Given the description of an element on the screen output the (x, y) to click on. 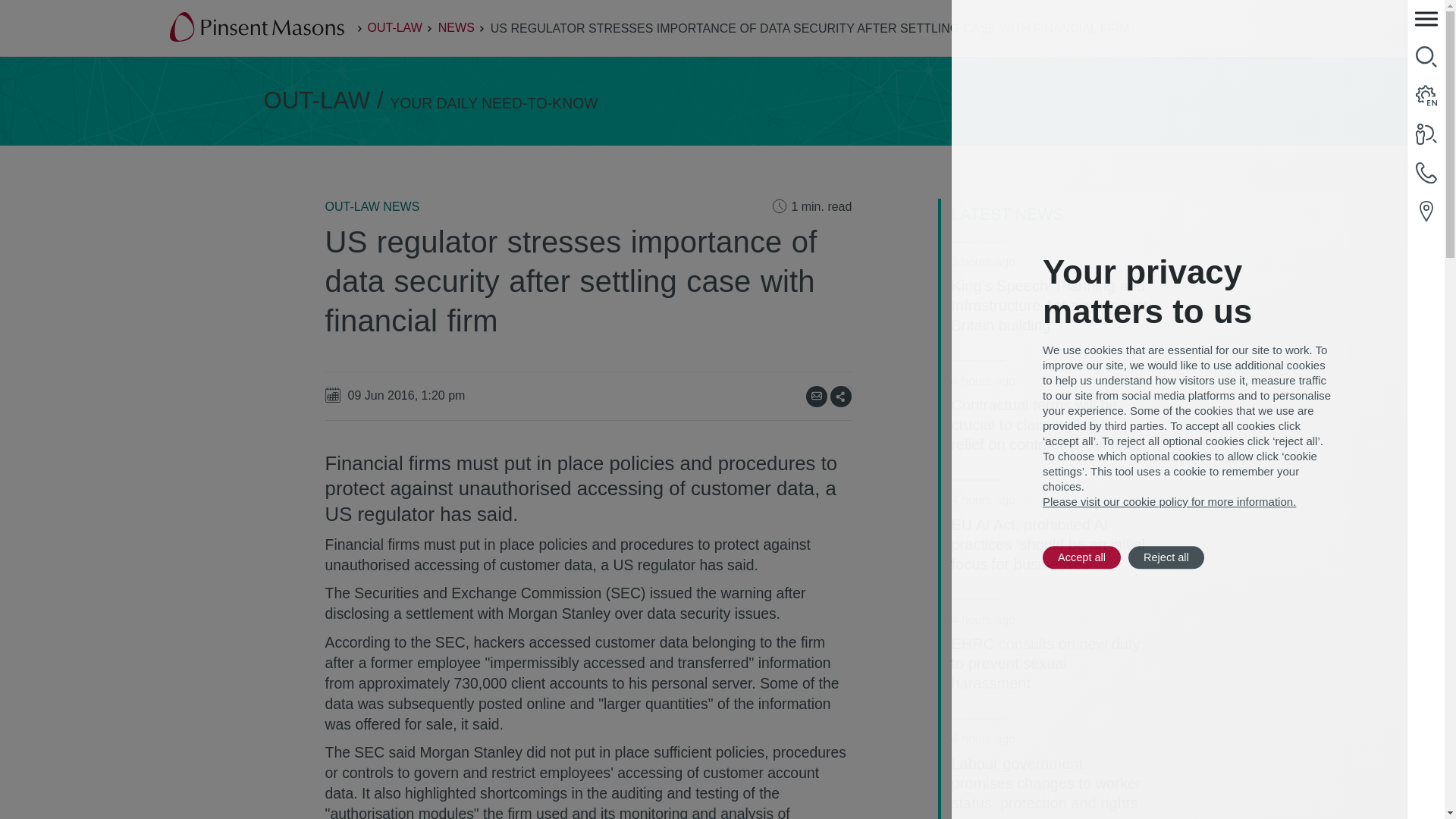
on (846, 390)
Pinsent Masons (257, 28)
OUT-LAW (394, 27)
NEWS (456, 27)
Email (816, 396)
